Given the description of an element on the screen output the (x, y) to click on. 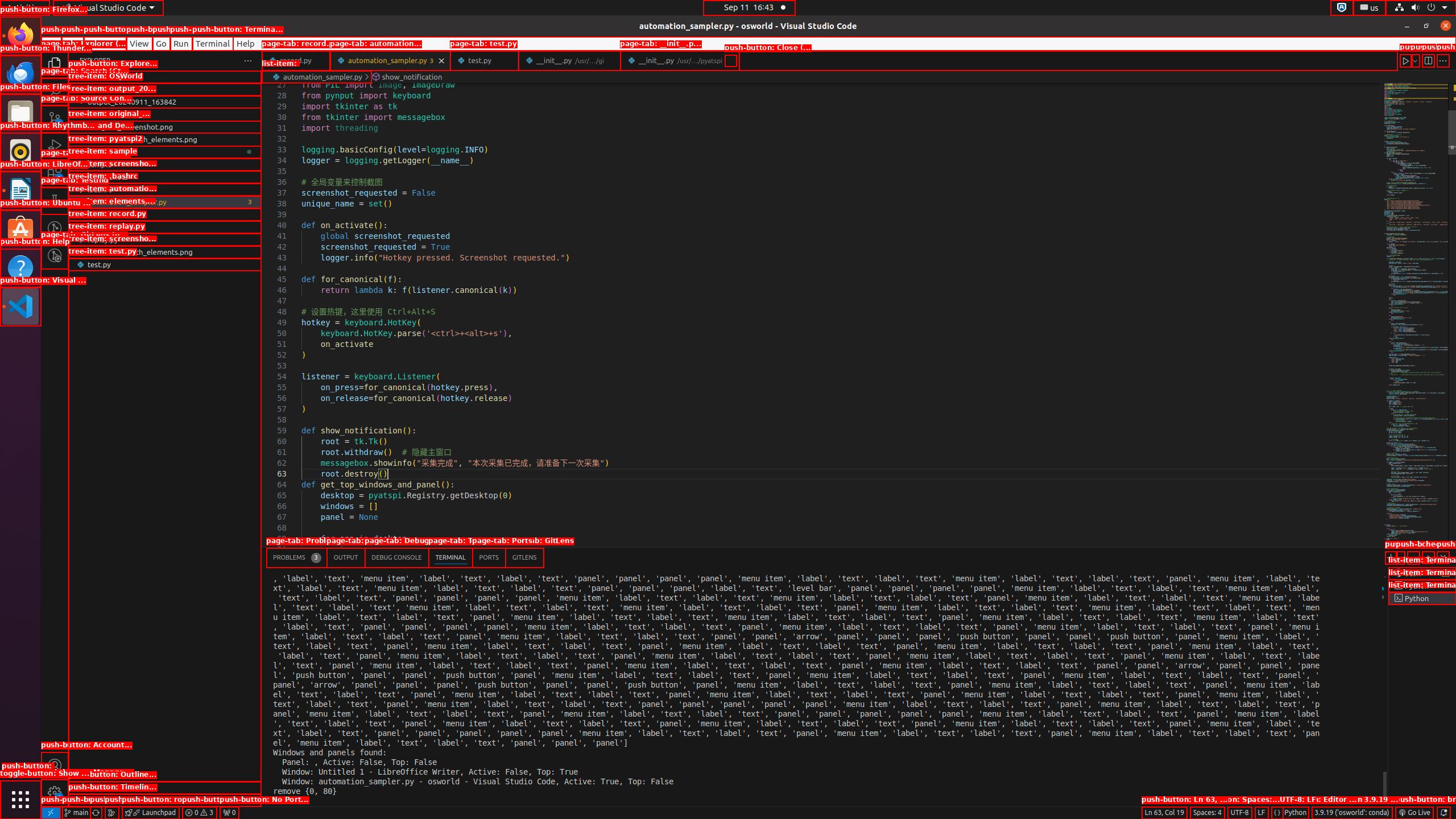
GitLens Element type: page-tab (524, 557)
Problems (Ctrl+Shift+M) - Total 3 Problems Element type: page-tab (296, 557)
Files Explorer Element type: tree (164, 432)
Active View Switcher Element type: page-tab-list (404, 557)
